Given the description of an element on the screen output the (x, y) to click on. 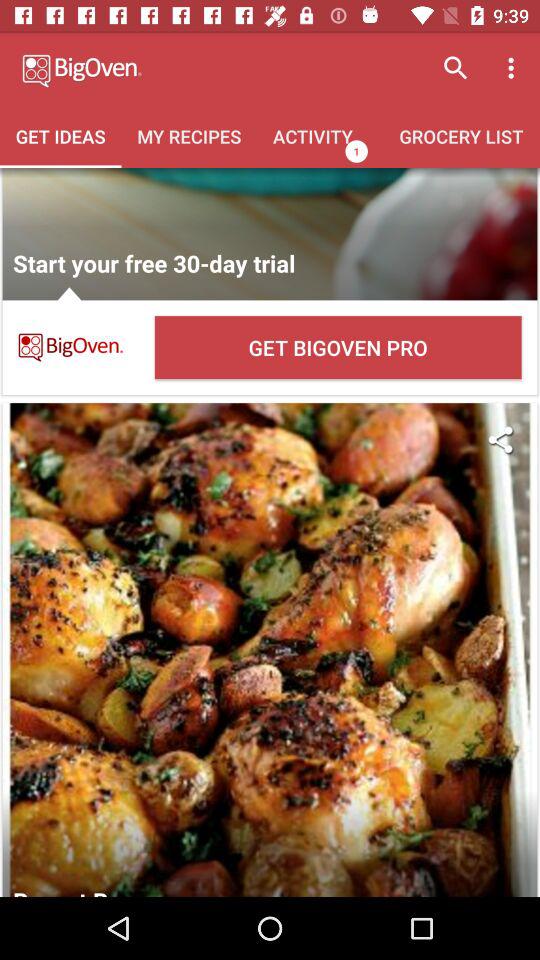
share (500, 439)
